Given the description of an element on the screen output the (x, y) to click on. 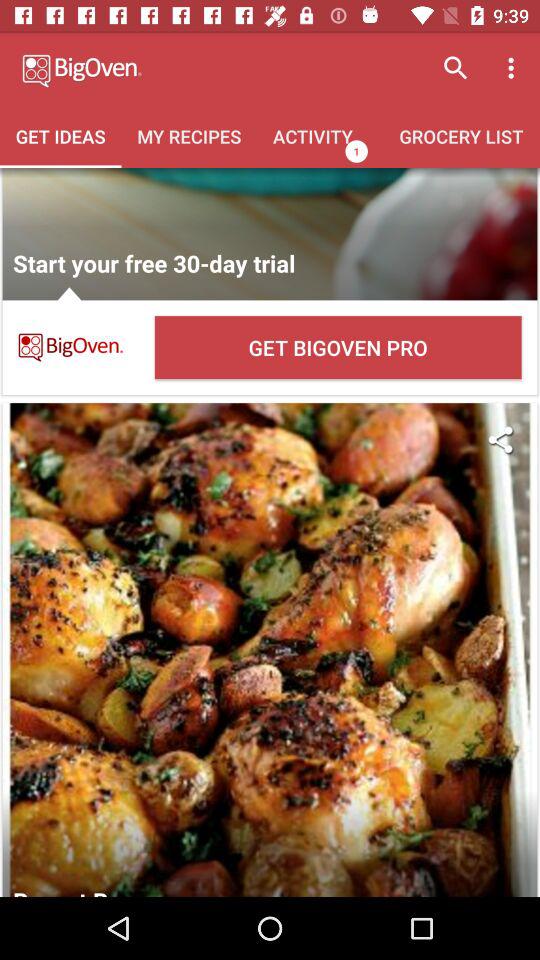
share (500, 439)
